Given the description of an element on the screen output the (x, y) to click on. 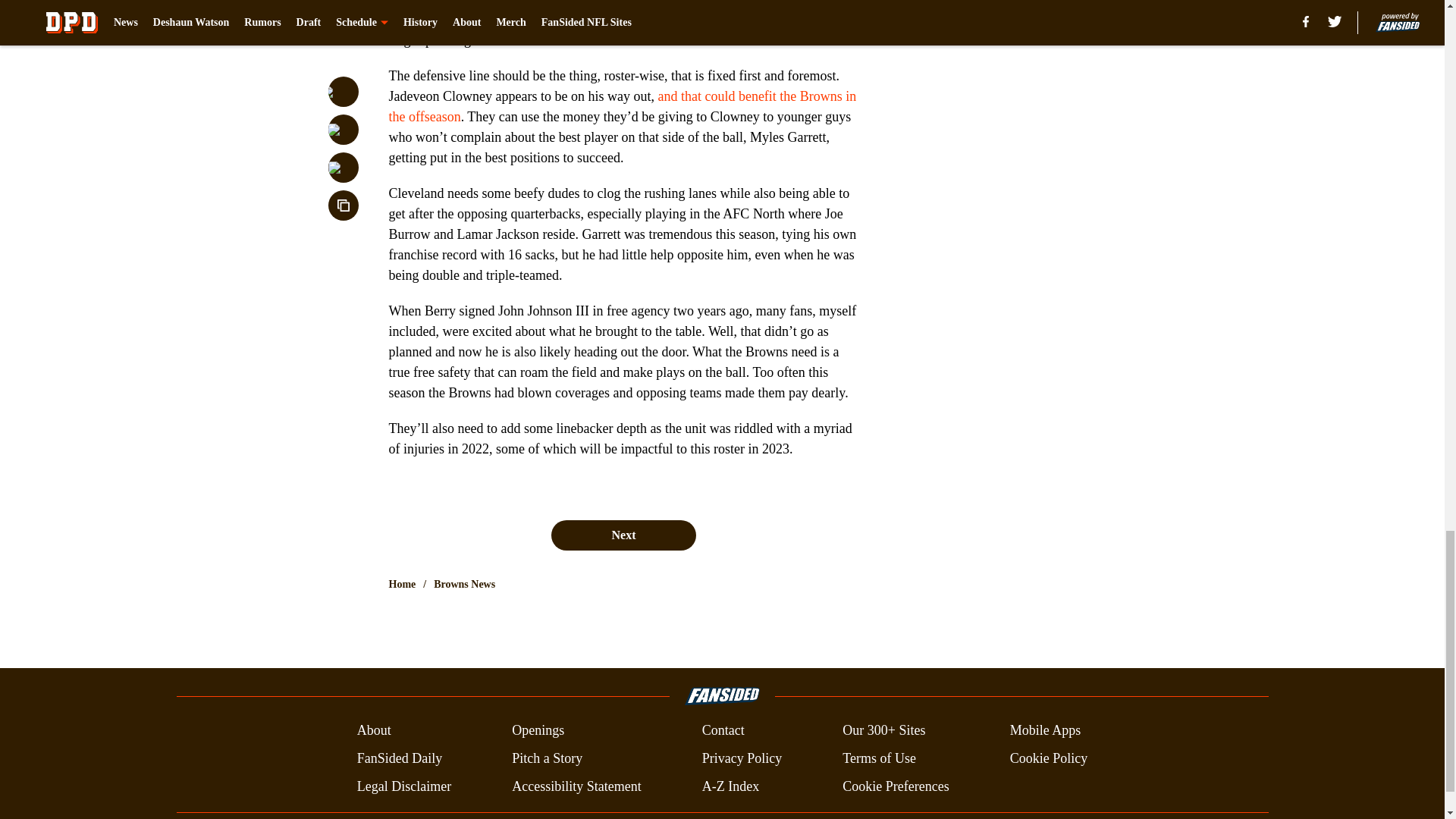
Browns News (464, 584)
Pitch a Story (547, 758)
Mobile Apps (1045, 730)
and that could benefit the Browns in the offseason (622, 106)
Openings (538, 730)
Next (622, 535)
Terms of Use (879, 758)
Cookie Policy (1048, 758)
Home (401, 584)
Contact (722, 730)
